Given the description of an element on the screen output the (x, y) to click on. 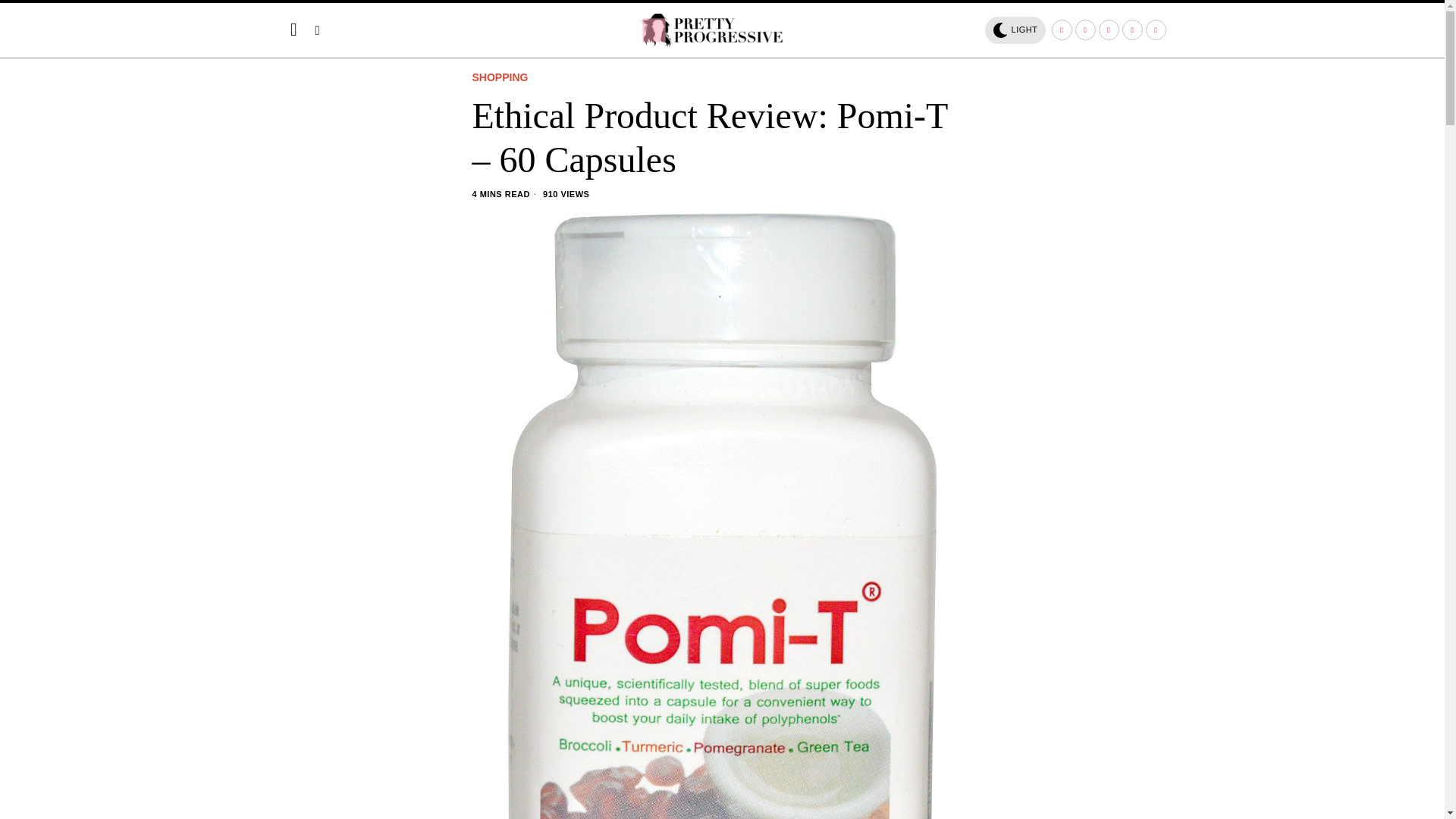
SHOPPING (499, 78)
